Given the description of an element on the screen output the (x, y) to click on. 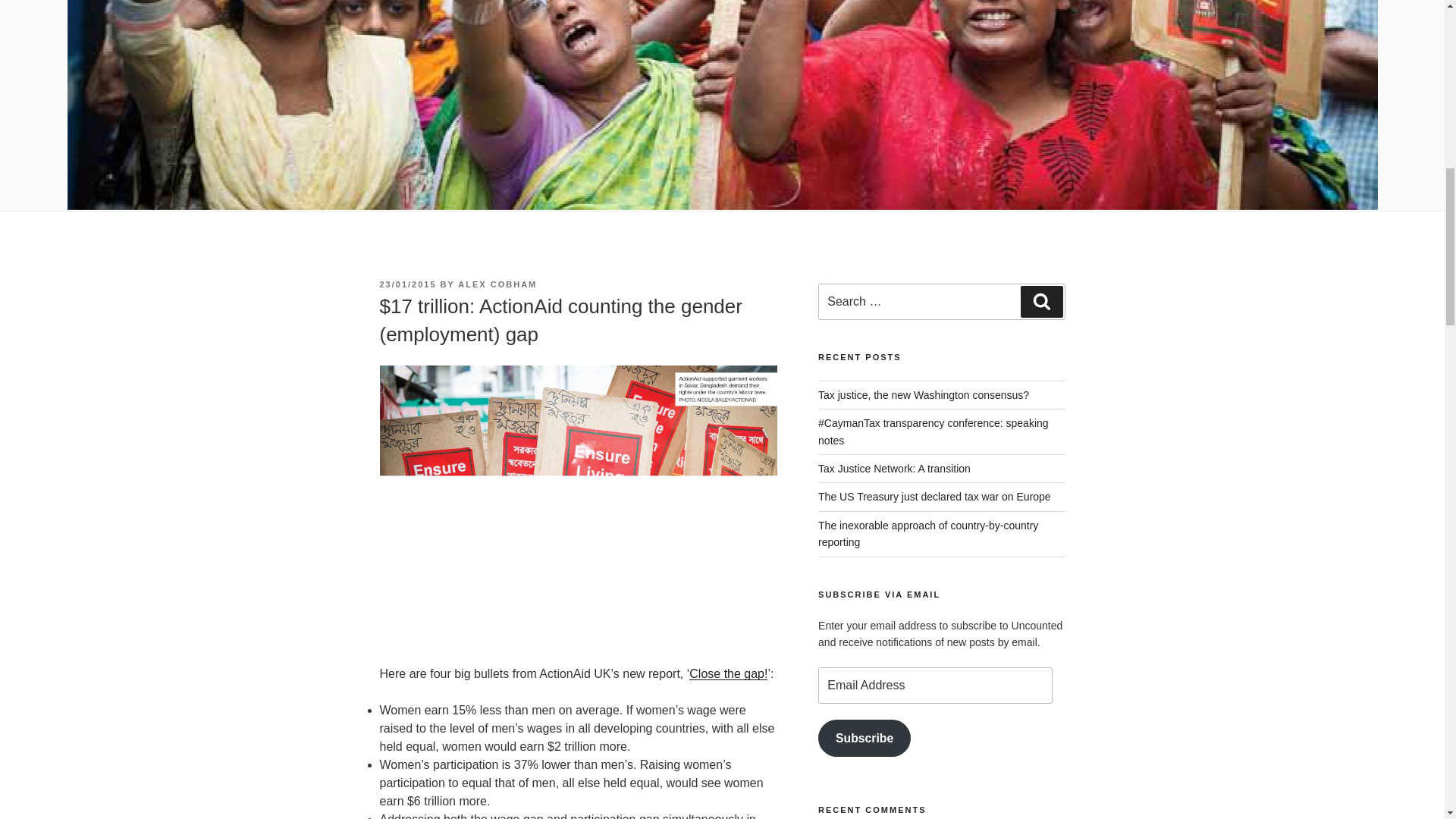
ALEX COBHAM (497, 284)
The inexorable approach of country-by-country reporting (928, 533)
Subscribe (864, 737)
Search (1041, 301)
Tax Justice Network: A transition (894, 468)
Close the gap! (727, 673)
The US Treasury just declared tax war on Europe (934, 496)
Tax justice, the new Washington consensus? (923, 395)
